Given the description of an element on the screen output the (x, y) to click on. 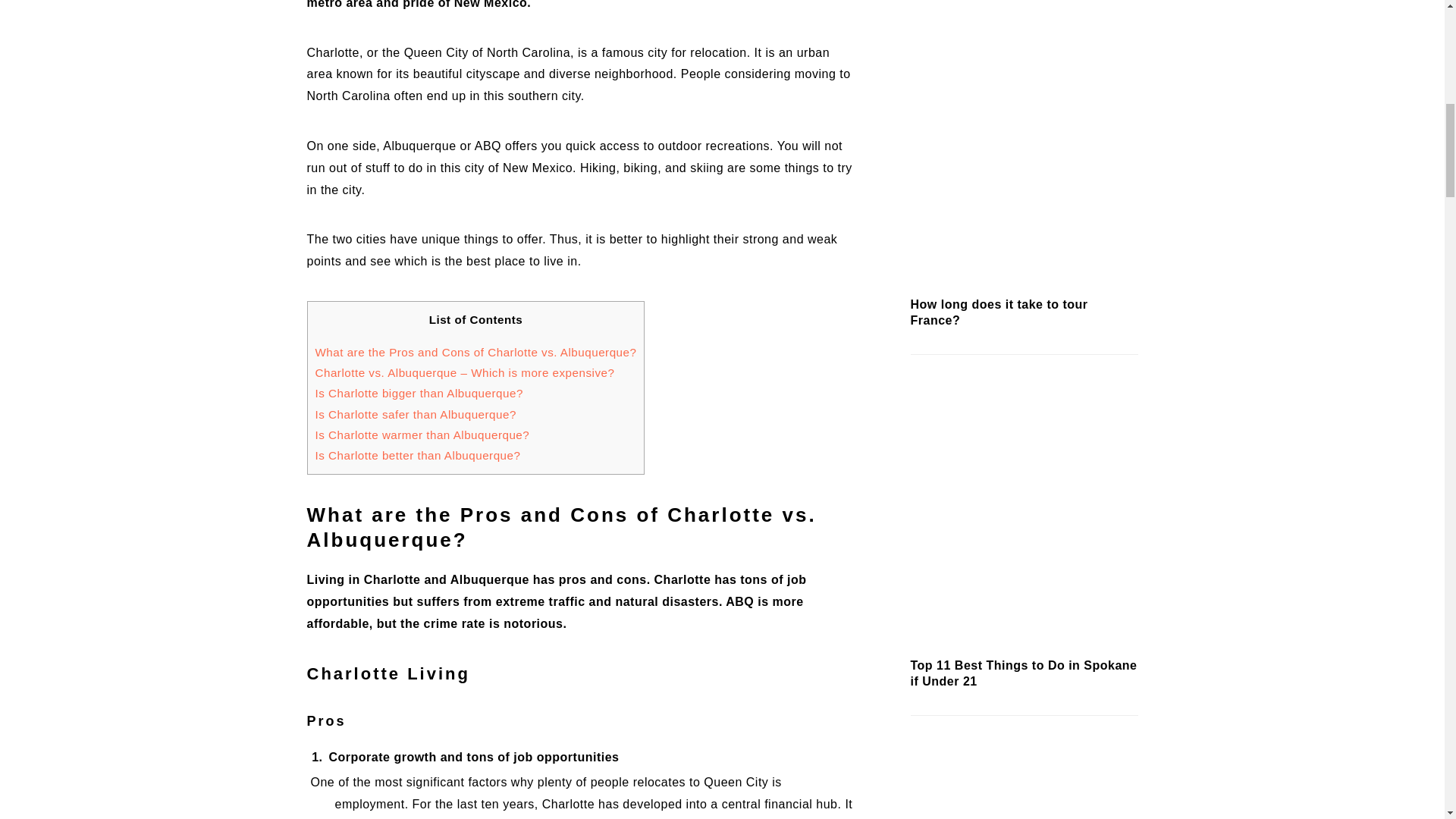
Is Charlotte safer than Albuquerque? (415, 413)
Is Charlotte bigger than Albuquerque? (418, 392)
What are the Pros and Cons of Charlotte vs. Albuquerque? (476, 351)
Top 11 Best Things to Do in Spokane if Under 21 (1023, 649)
How long does it take to tour France? (998, 312)
Is Charlotte warmer than Albuquerque? (422, 434)
Is Charlotte better than Albuquerque? (418, 454)
Top 11 Best Things to Do in Spokane if Under 21 (1023, 673)
How long does it take to tour France? (1023, 288)
